Given the description of an element on the screen output the (x, y) to click on. 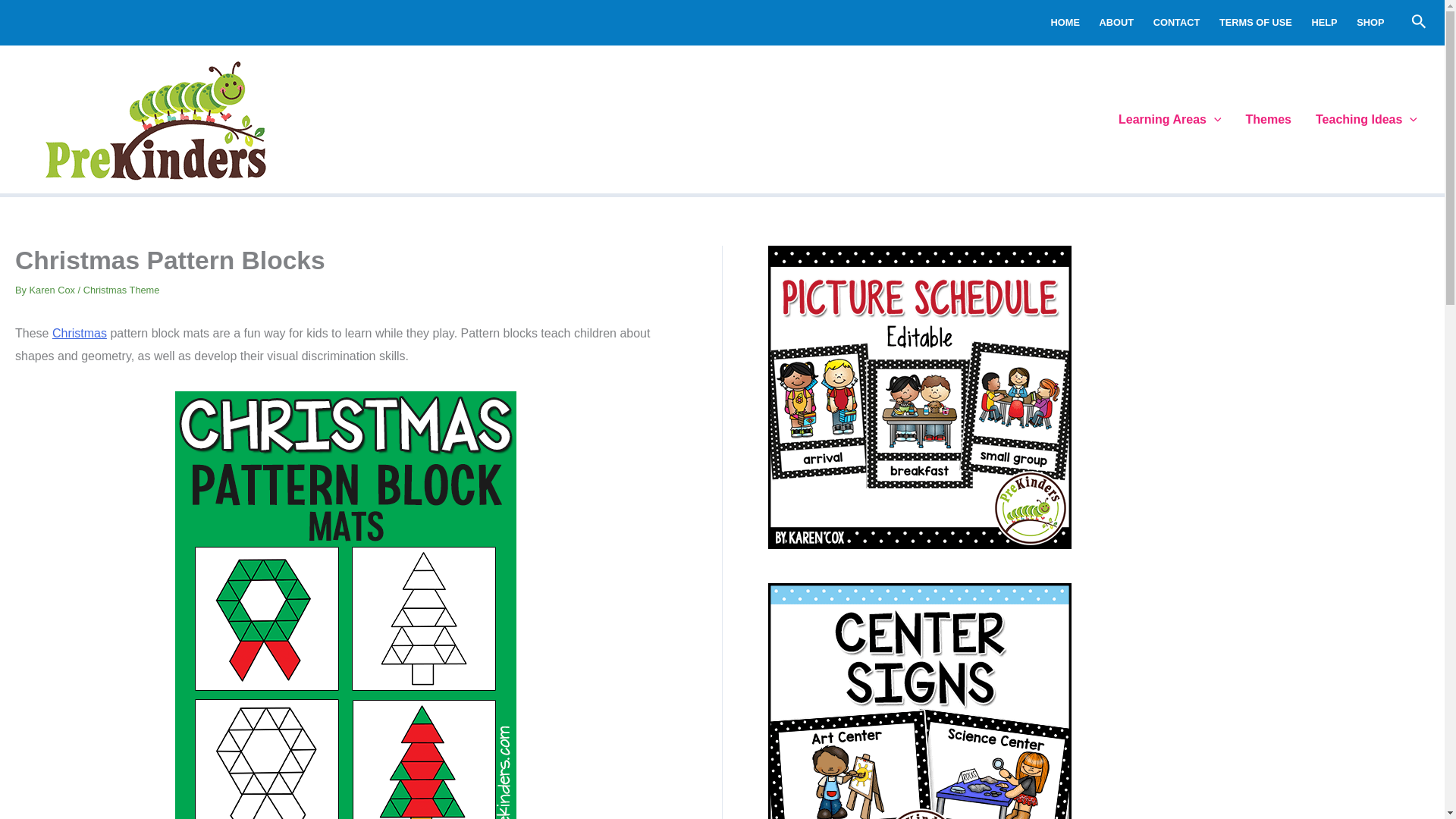
SHOP (1369, 22)
Learning Areas (1169, 119)
HELP (1324, 22)
CONTACT (1175, 22)
ABOUT (1115, 22)
Teaching Ideas (1366, 119)
HOME (1065, 22)
Themes (1268, 119)
TERMS OF USE (1255, 22)
View all posts by Karen Cox (53, 289)
